Given the description of an element on the screen output the (x, y) to click on. 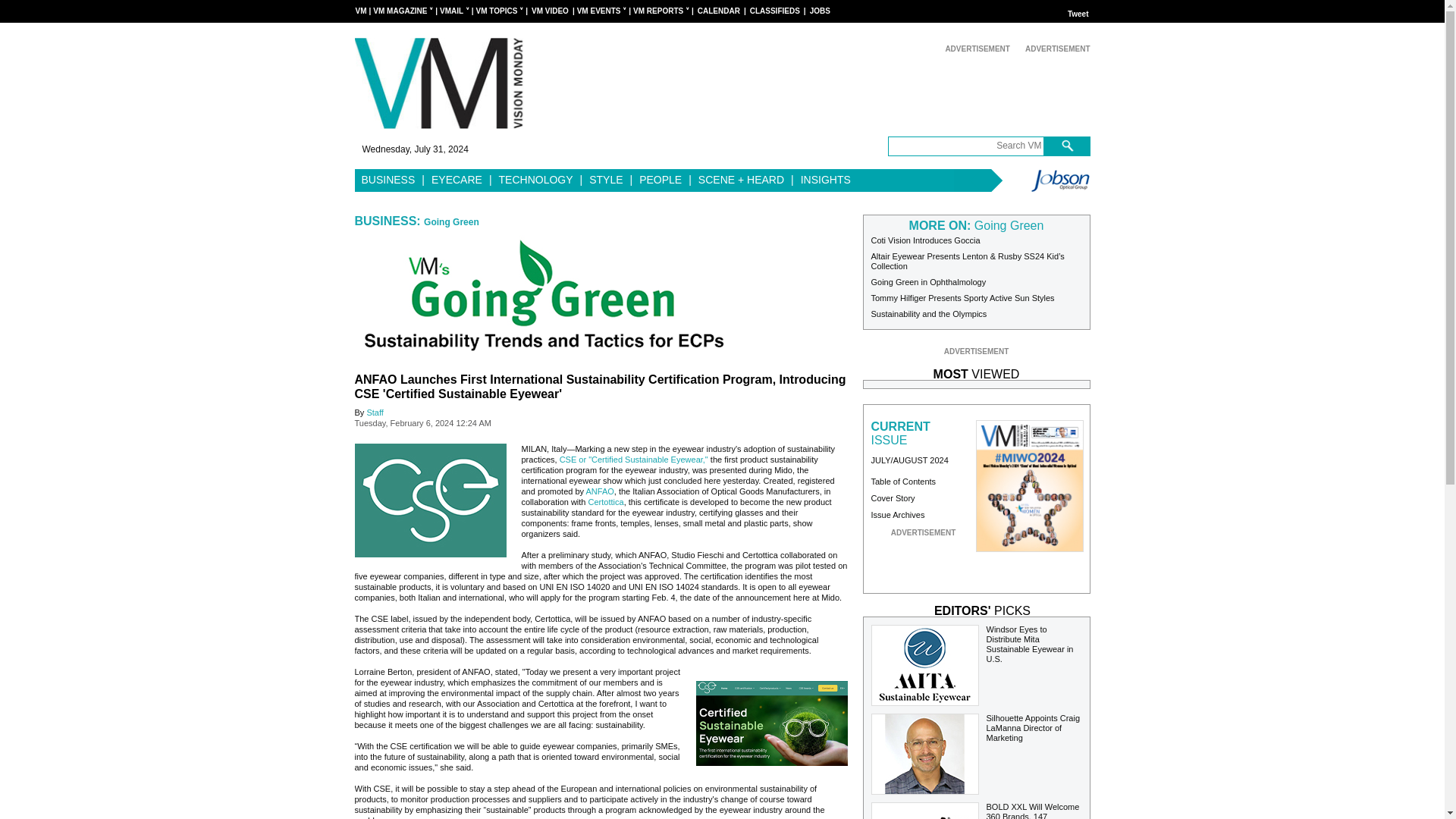
VM VIDEO (549, 11)
CLASSIFIEDS (775, 11)
GOING GREEN (545, 294)
Tweet (1077, 14)
CALENDAR (718, 11)
JOBS (819, 11)
